Given the description of an element on the screen output the (x, y) to click on. 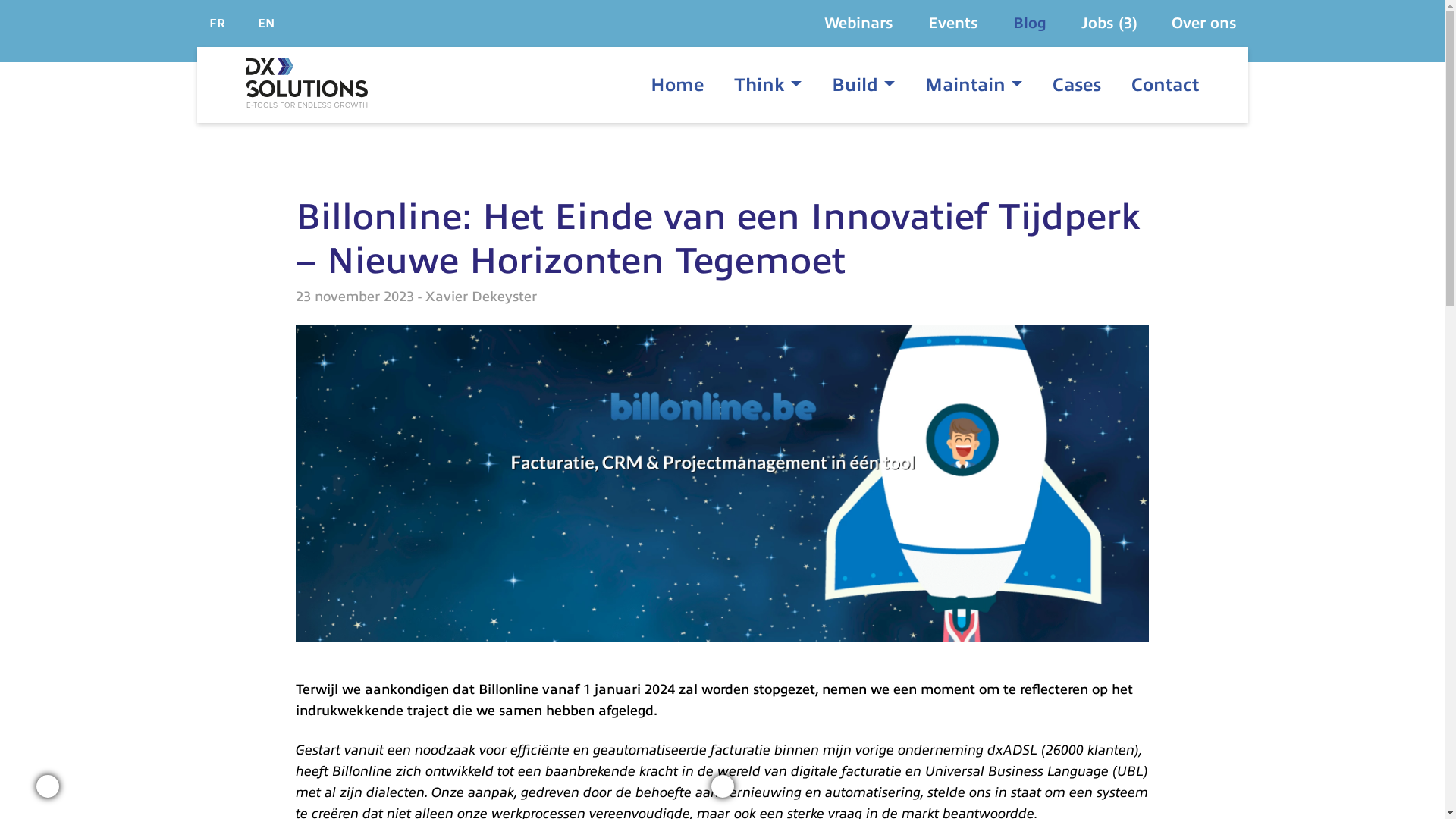
Build Element type: text (847, 84)
Over ons Element type: text (1203, 22)
EN Element type: text (266, 23)
DX-Solutions Element type: hover (306, 84)
Jobs (3) Element type: text (1109, 22)
Cases Element type: text (1076, 84)
Home Element type: text (684, 84)
Blog Element type: text (1032, 22)
Contact Element type: text (1157, 84)
FR Element type: text (216, 23)
Events Element type: text (955, 22)
Think Element type: text (752, 84)
Webinars Element type: text (860, 22)
Maintain Element type: text (959, 84)
